Given the description of an element on the screen output the (x, y) to click on. 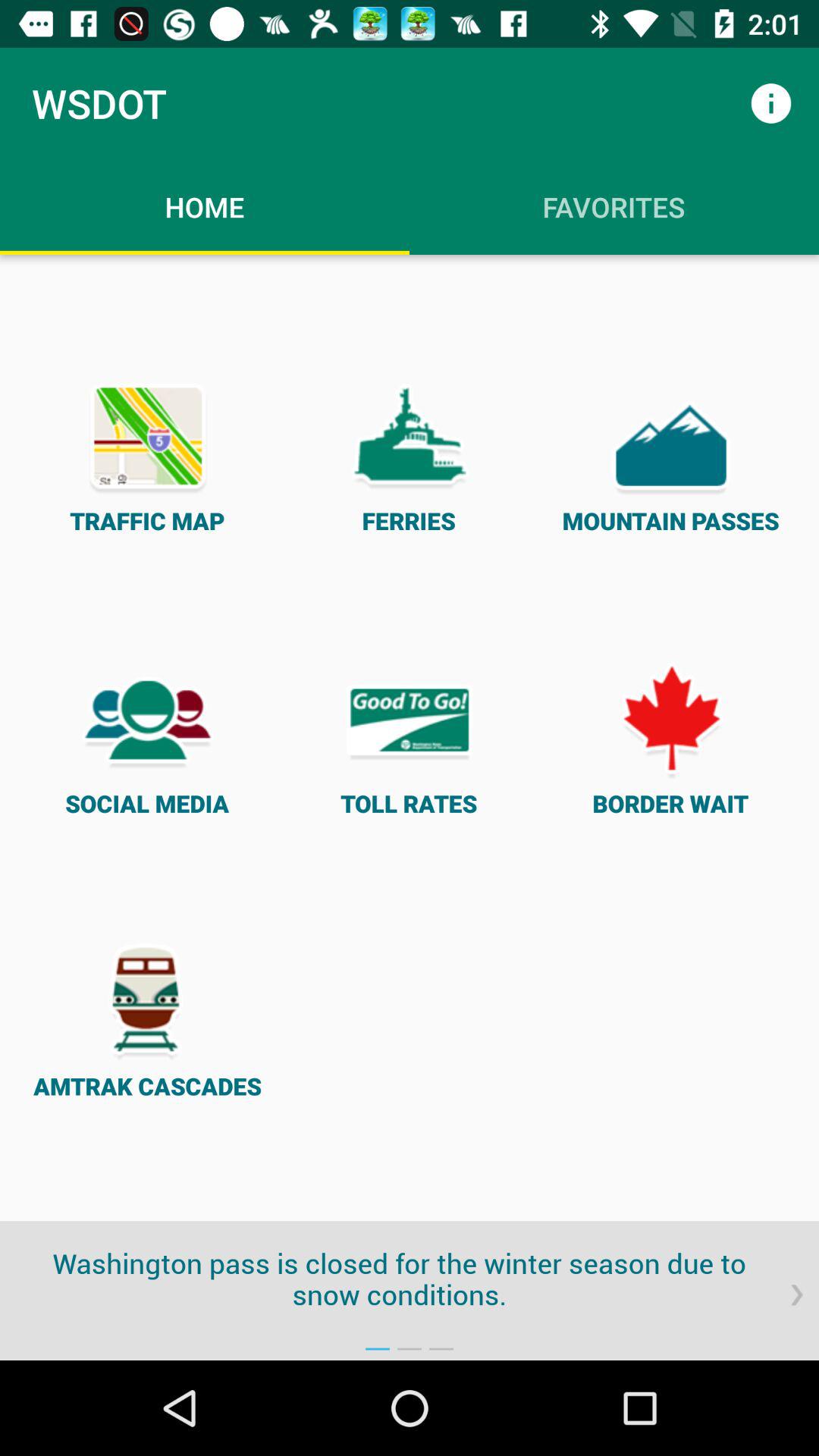
scroll to mountain passes (670, 455)
